Given the description of an element on the screen output the (x, y) to click on. 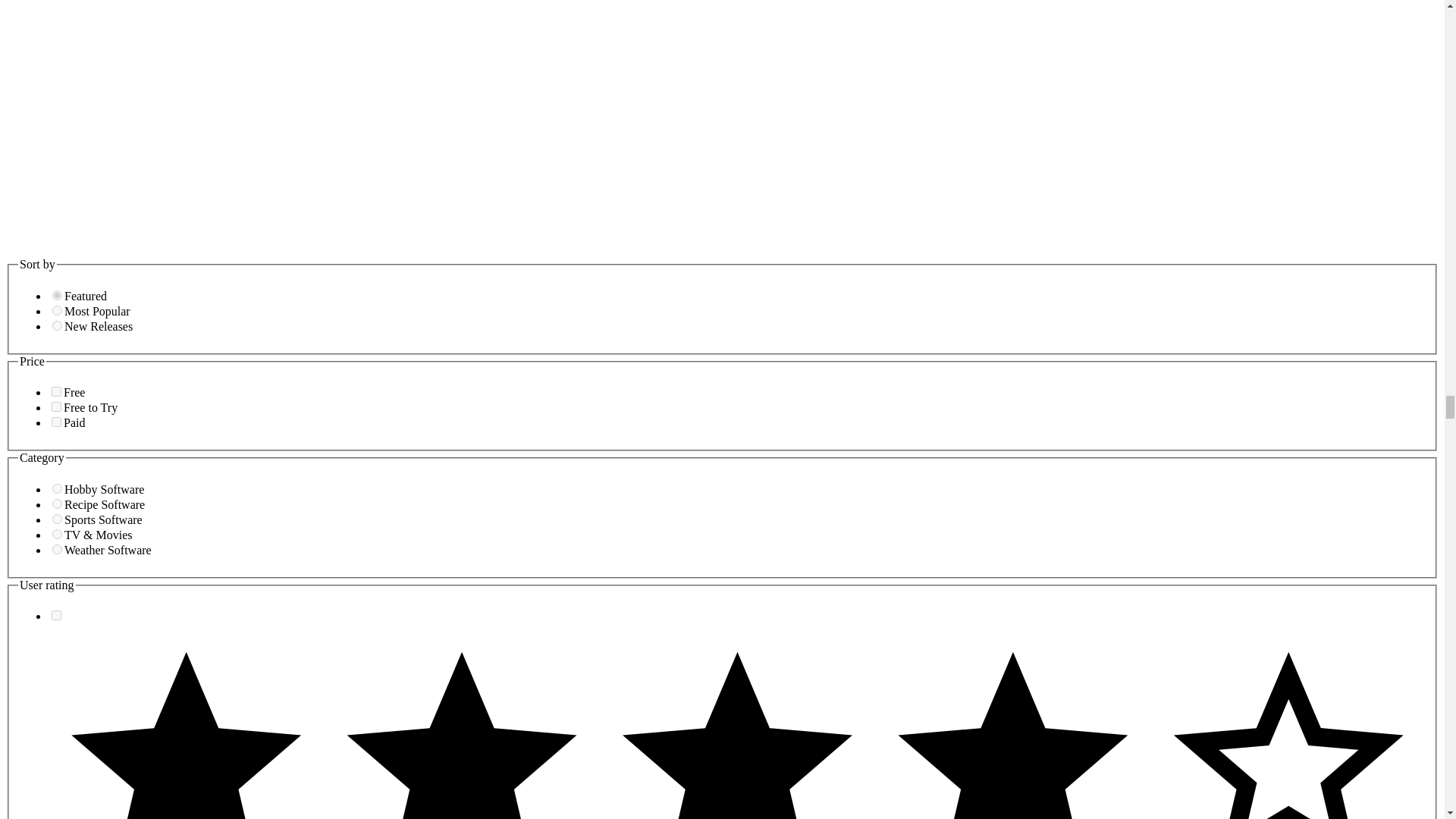
paid (55, 421)
free (55, 391)
home-hobbies (57, 488)
home-food-cooking (57, 503)
home-weather (57, 549)
mostPopular (57, 310)
freeToTry (55, 406)
newReleases (57, 325)
featured (57, 295)
4up (55, 614)
